Given the description of an element on the screen output the (x, y) to click on. 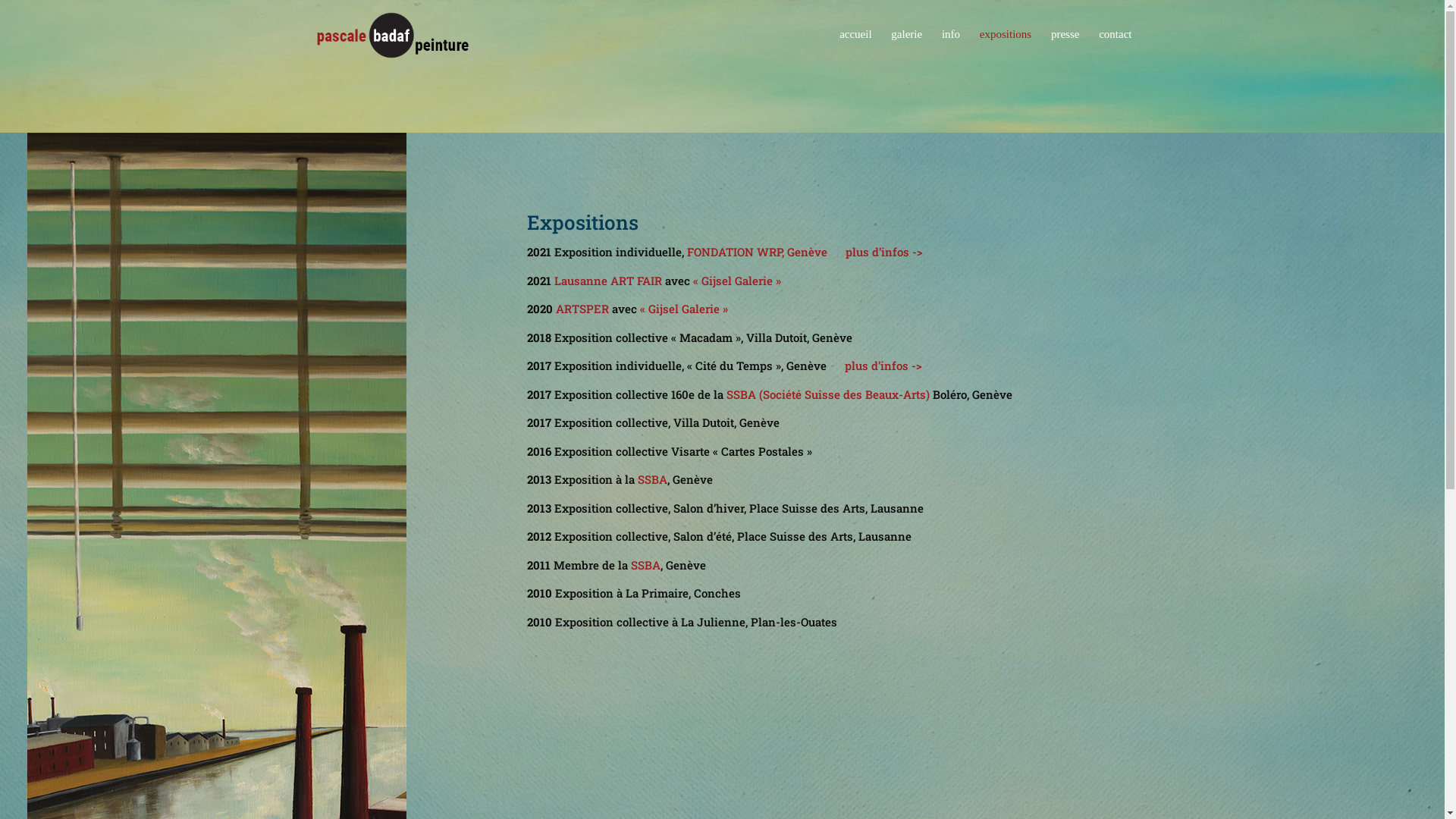
contact Element type: text (1114, 48)
accueil Element type: text (855, 48)
expositions Element type: text (1005, 48)
ARTSPER Element type: text (581, 308)
SSBA Element type: text (645, 564)
presse Element type: text (1065, 48)
SSBA Element type: text (652, 478)
info Element type: text (950, 48)
Lausanne ART FAIR Element type: text (608, 280)
galerie Element type: text (906, 48)
